Given the description of an element on the screen output the (x, y) to click on. 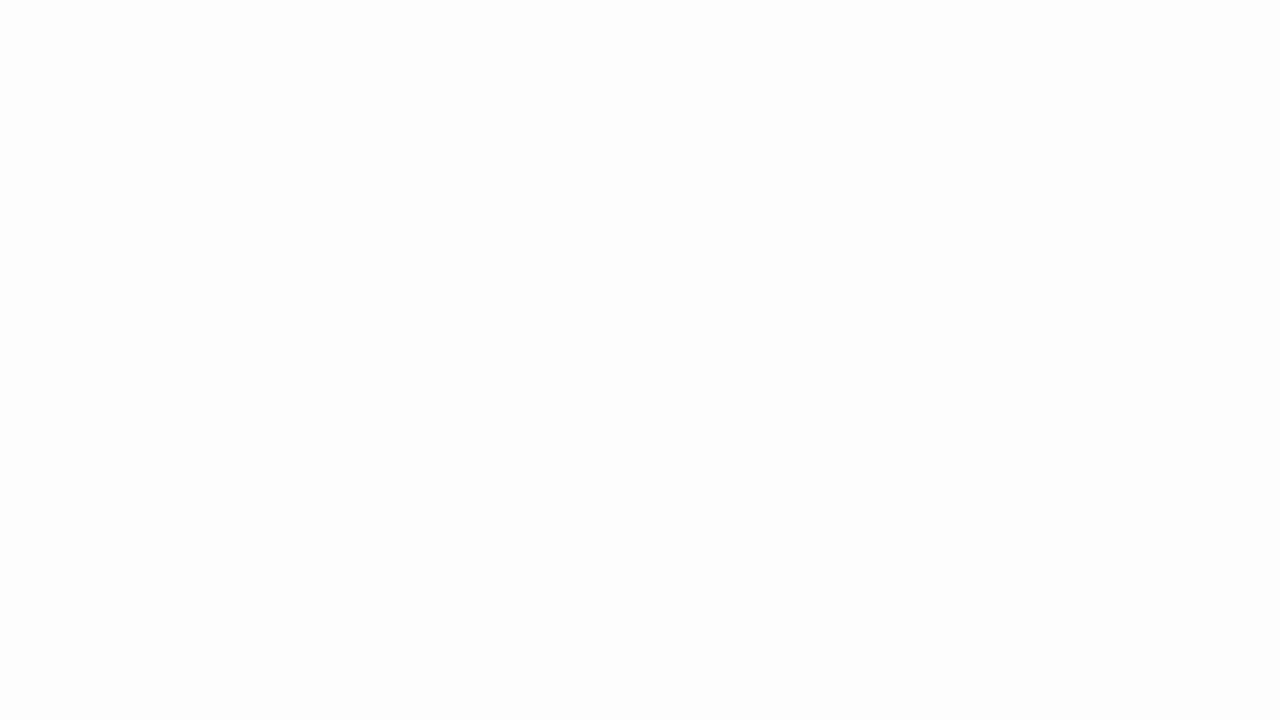
AutoSum (497, 78)
Delete (369, 102)
Fill (477, 101)
Format (411, 102)
Sort & Filter (566, 102)
Class: NetUIImage (280, 120)
Neutral (113, 86)
Insert Cells (328, 84)
Clear (483, 124)
Find & Select (610, 102)
